Given the description of an element on the screen output the (x, y) to click on. 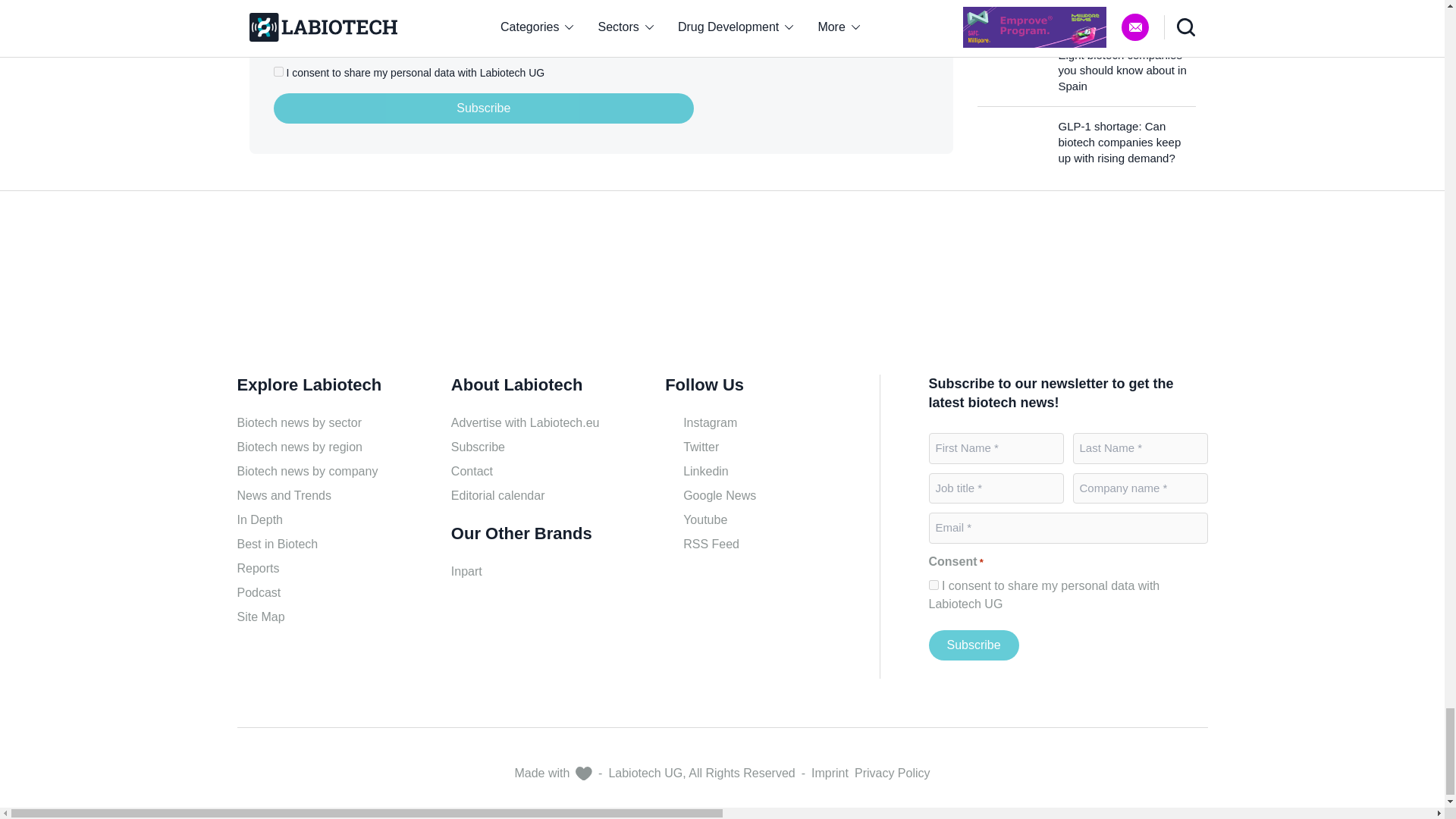
Labiotech.eu (834, 76)
Subscribe (483, 108)
Labiotech.eu (309, 288)
1 (932, 584)
1 (277, 71)
Subscribe (972, 644)
